Given the description of an element on the screen output the (x, y) to click on. 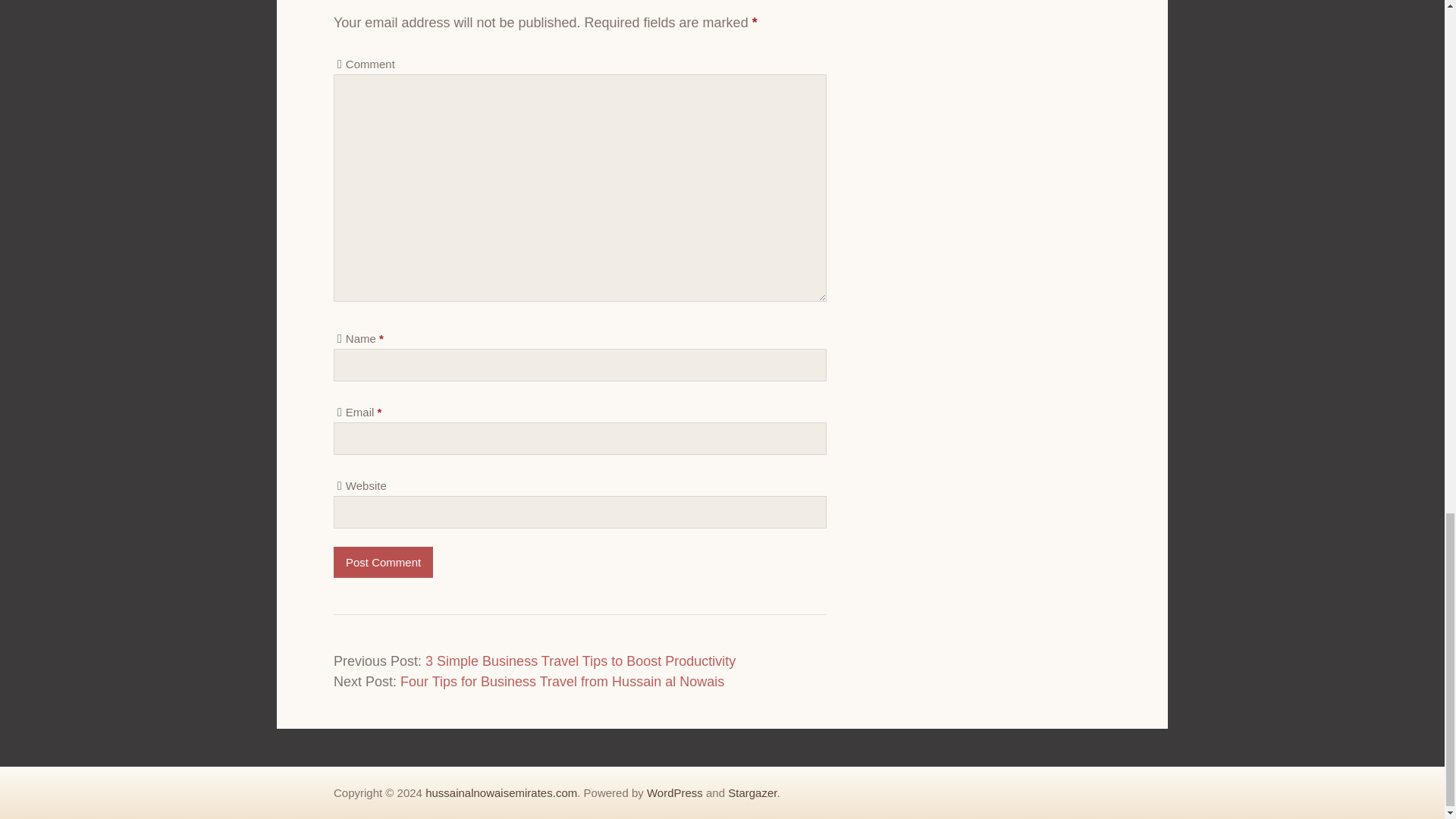
Four Tips for Business Travel from Hussain al Nowais (561, 681)
Post Comment (382, 562)
Post Comment (382, 562)
3 Simple Business Travel Tips to Boost Productivity (580, 661)
